Given the description of an element on the screen output the (x, y) to click on. 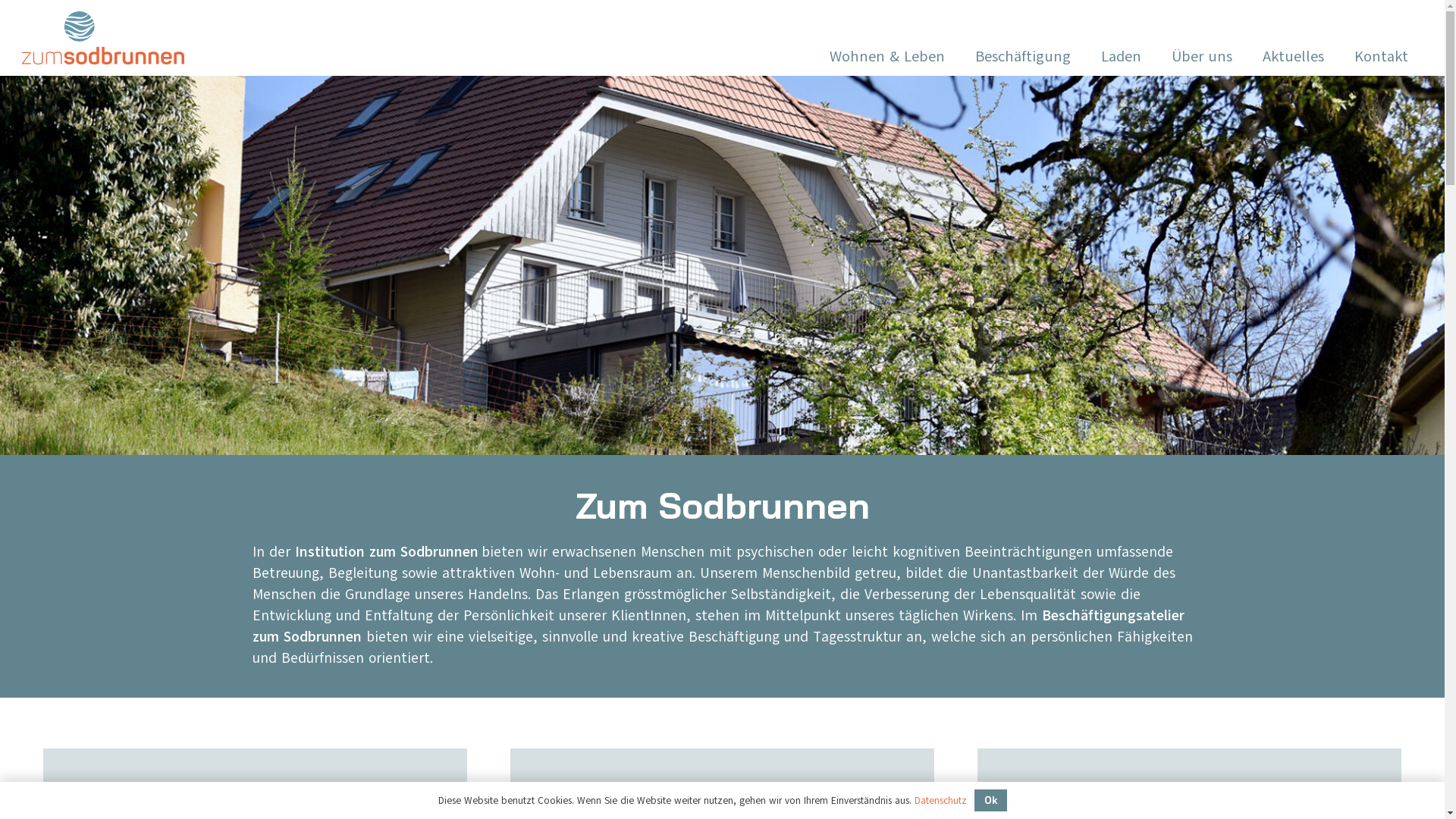
Laden Element type: text (1120, 56)
Datenschutz Element type: text (940, 800)
Ok Element type: text (989, 800)
Institution zum Sodbrunnen Element type: text (387, 551)
Wohnen & Leben Element type: text (887, 56)
Kontakt Element type: text (1381, 56)
Aktuelles Element type: text (1293, 56)
